Given the description of an element on the screen output the (x, y) to click on. 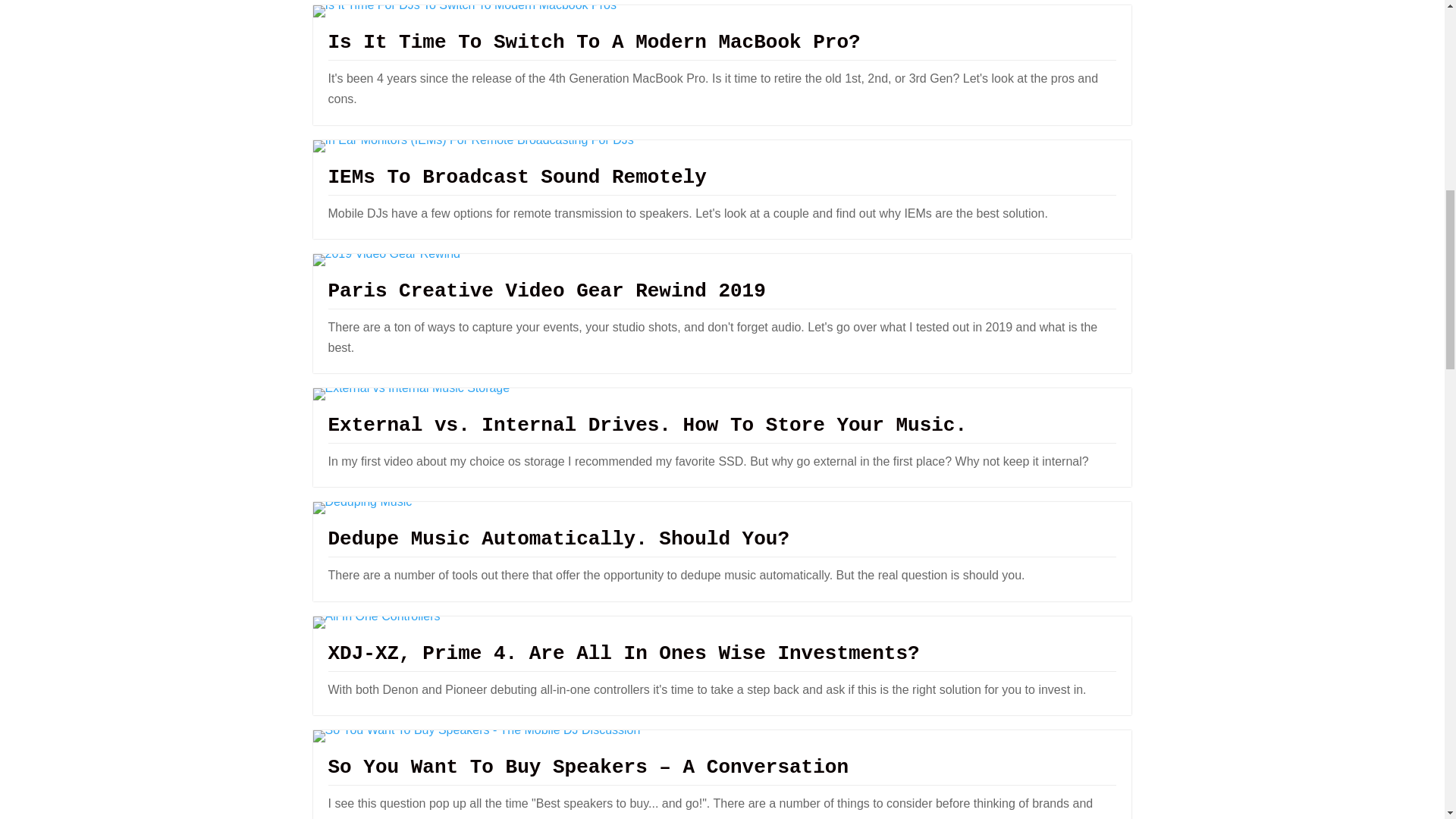
IEMs To Broadcast Sound Remotely (516, 177)
Paris Creative Video Gear Rewind 2019 (546, 291)
External vs. Internal Drives. How To Store Your Music. (646, 425)
Is It Time To Switch To A Modern MacBook Pro? (593, 42)
